Given the description of an element on the screen output the (x, y) to click on. 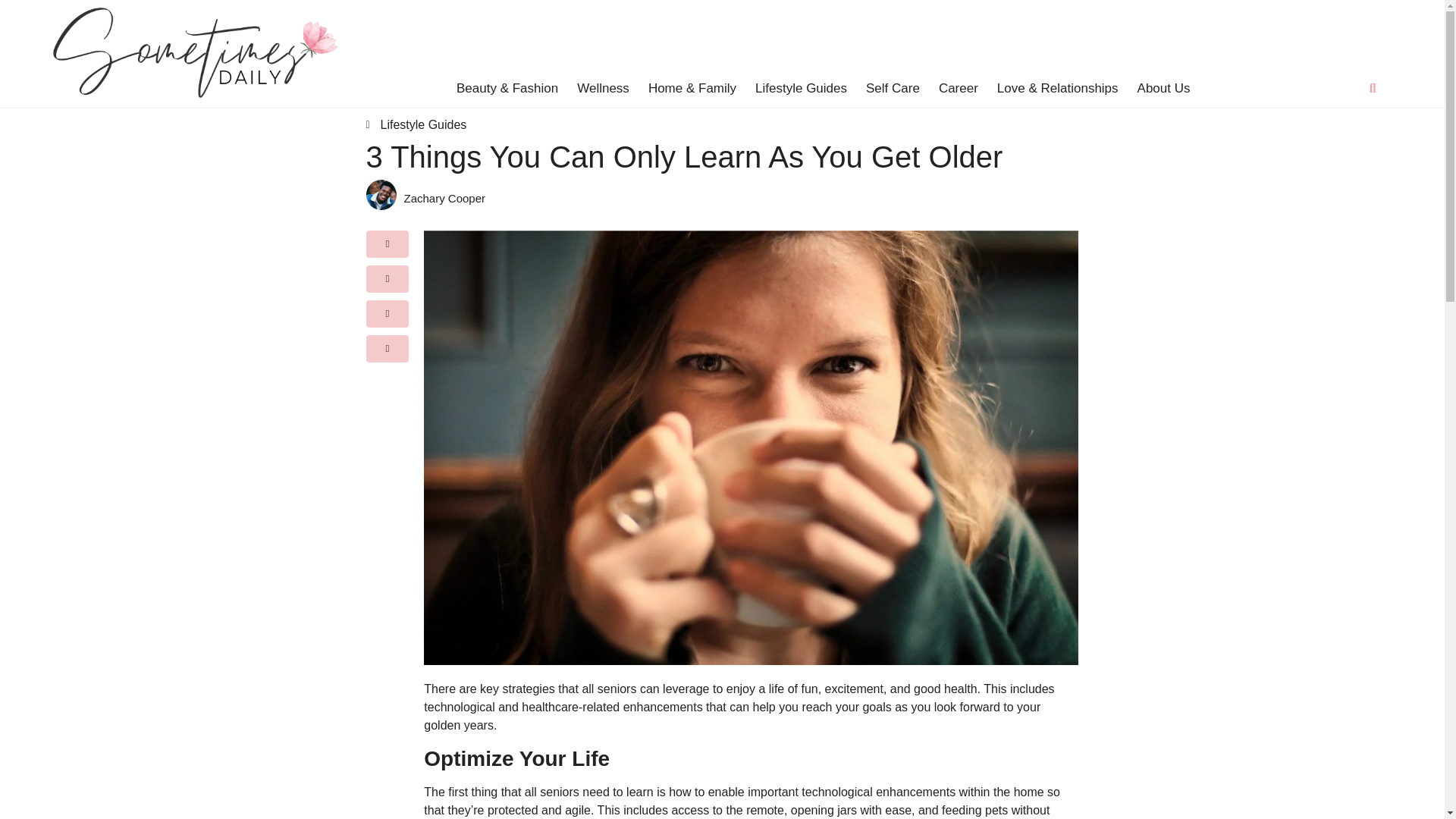
Lifestyle Guides (801, 87)
Career (958, 87)
Wellness (602, 87)
Lifestyle Guides (423, 124)
About Us (1164, 87)
Self Care (893, 87)
Zachary Cooper (740, 198)
